Given the description of an element on the screen output the (x, y) to click on. 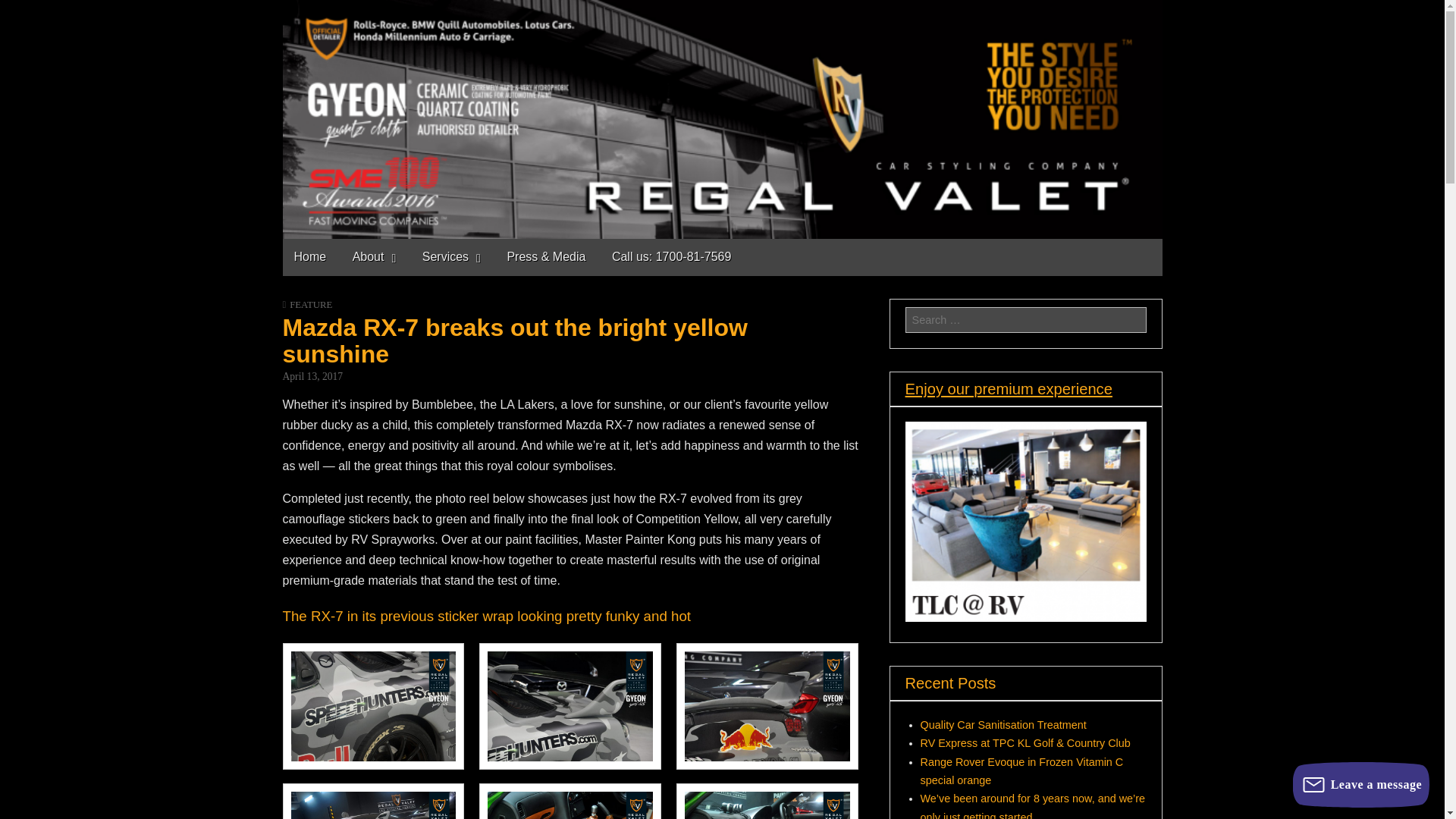
Services (451, 257)
About (373, 257)
Call us: 1700-81-7569 (670, 256)
Home (309, 256)
FEATURE (310, 304)
